Given the description of an element on the screen output the (x, y) to click on. 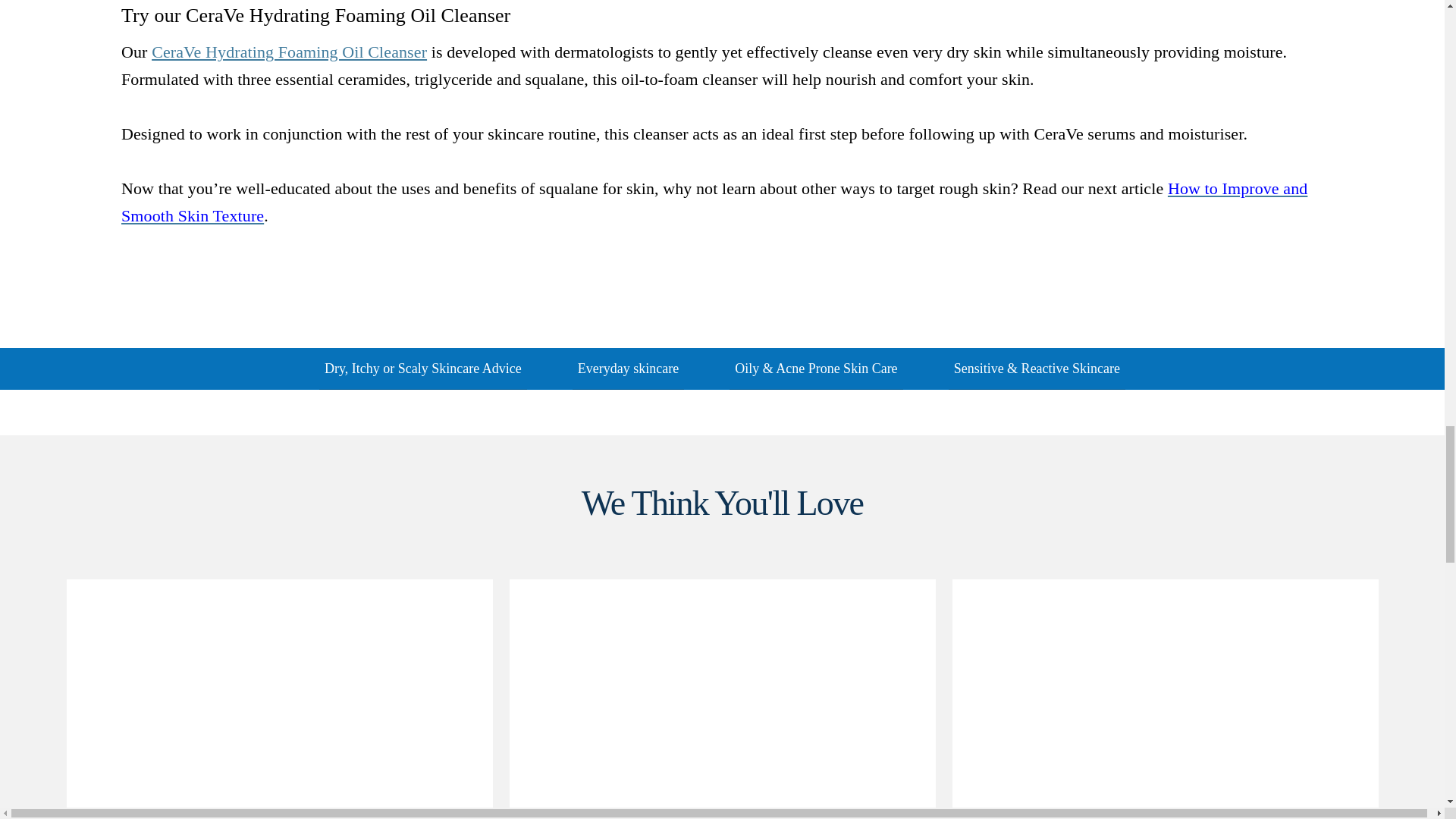
woman uses shea butter (1164, 698)
